Given the description of an element on the screen output the (x, y) to click on. 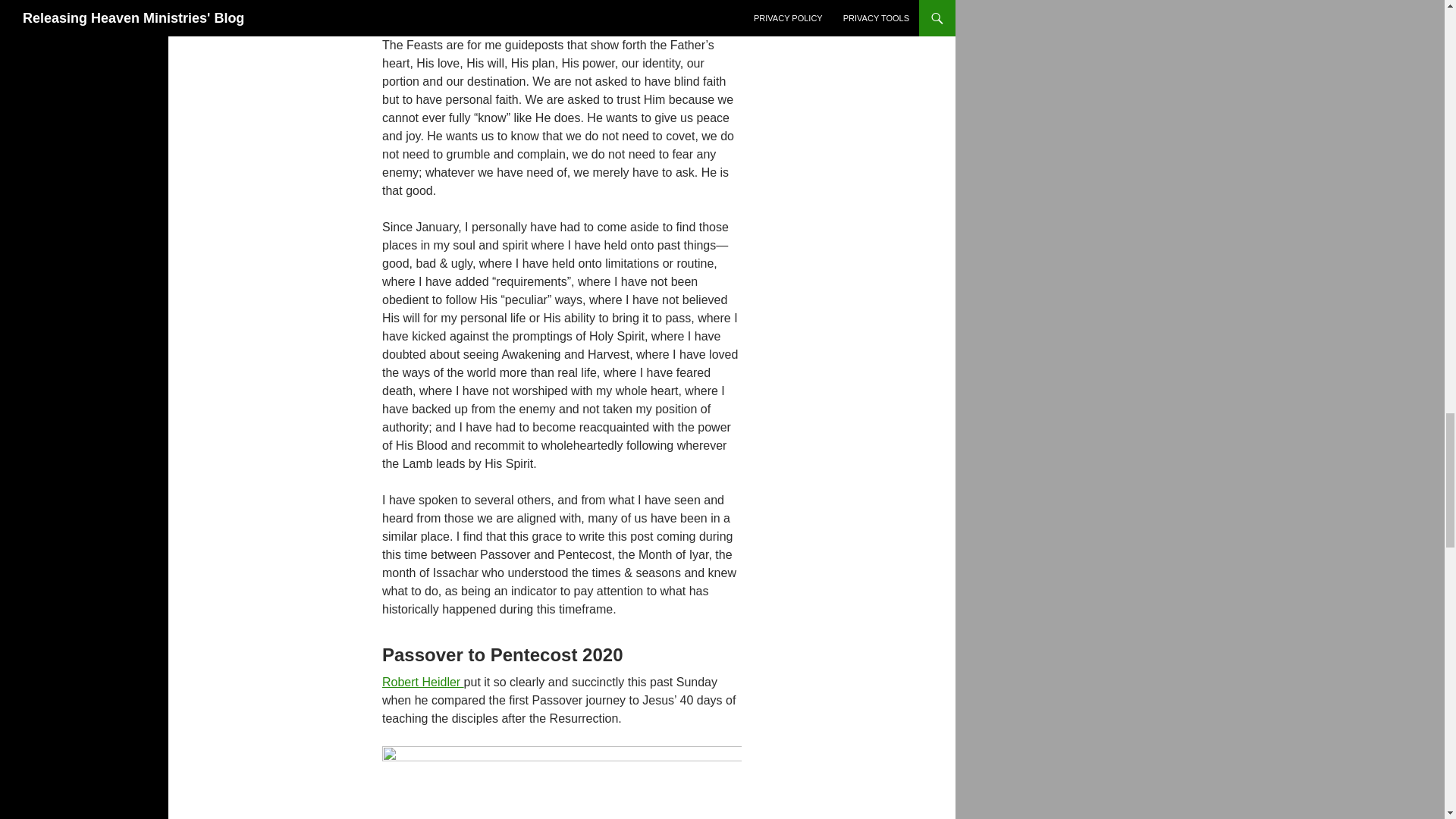
Robert Heidler (422, 681)
